Given the description of an element on the screen output the (x, y) to click on. 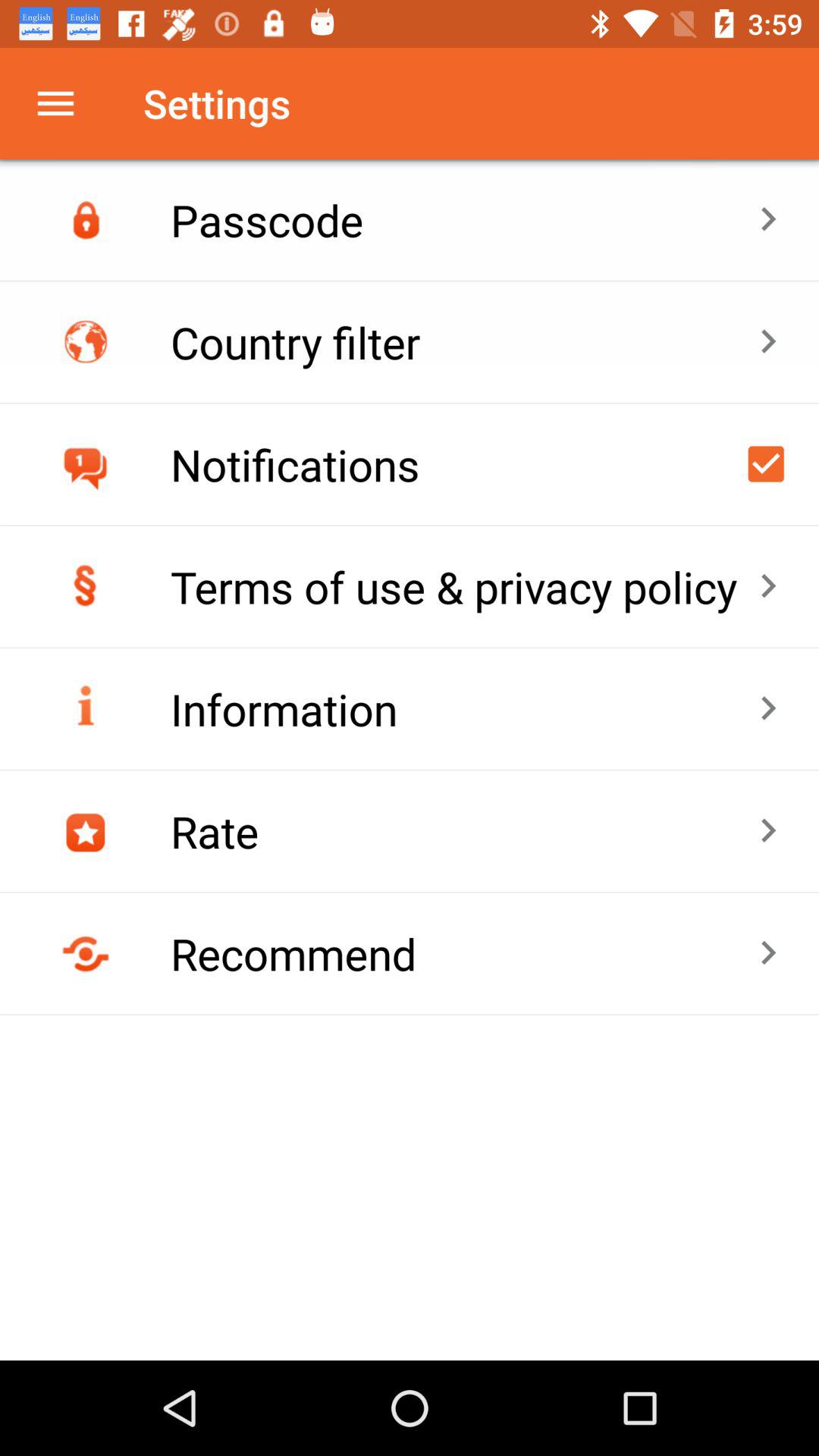
launch icon below country filter item (765, 463)
